Given the description of an element on the screen output the (x, y) to click on. 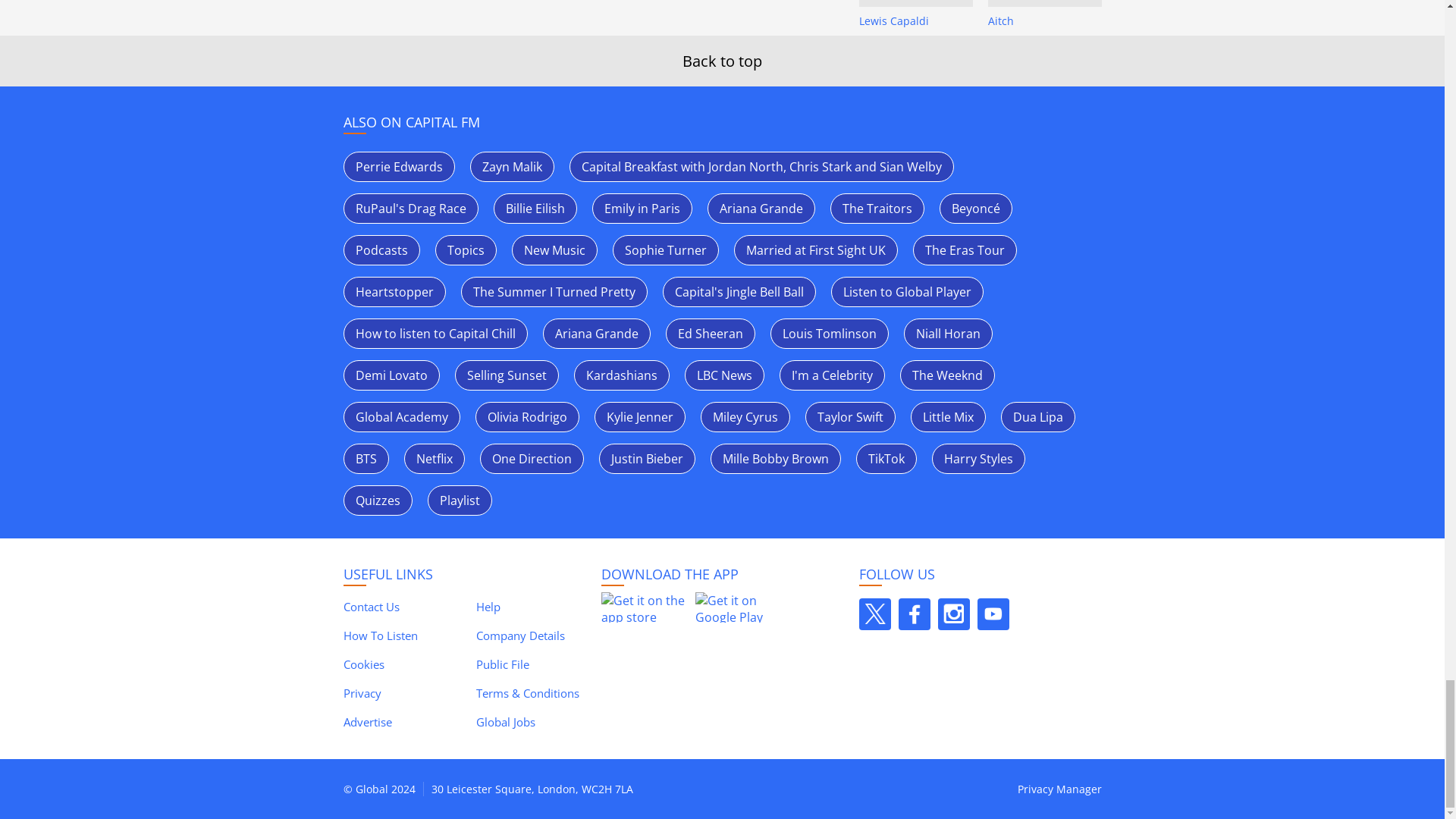
Follow Capital on Facebook (914, 613)
Back to top (721, 60)
Follow Capital on Instagram (953, 613)
Follow Capital on Youtube (992, 613)
Follow Capital on X (874, 613)
